Given the description of an element on the screen output the (x, y) to click on. 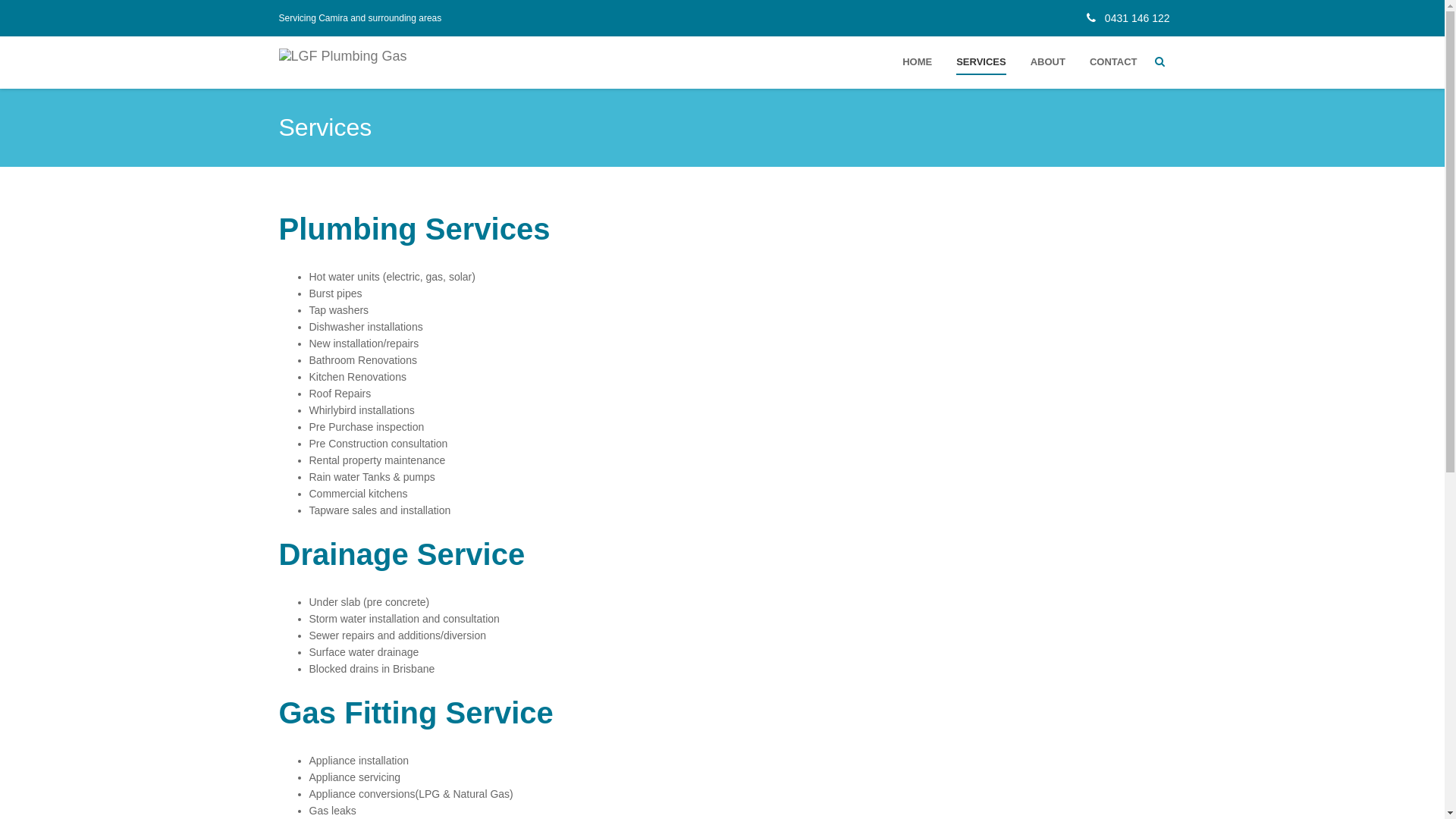
HOME Element type: text (916, 62)
SERVICES Element type: text (981, 62)
ABOUT Element type: text (1047, 62)
CONTACT Element type: text (1113, 62)
0431 146 122 Element type: text (1123, 18)
